Given the description of an element on the screen output the (x, y) to click on. 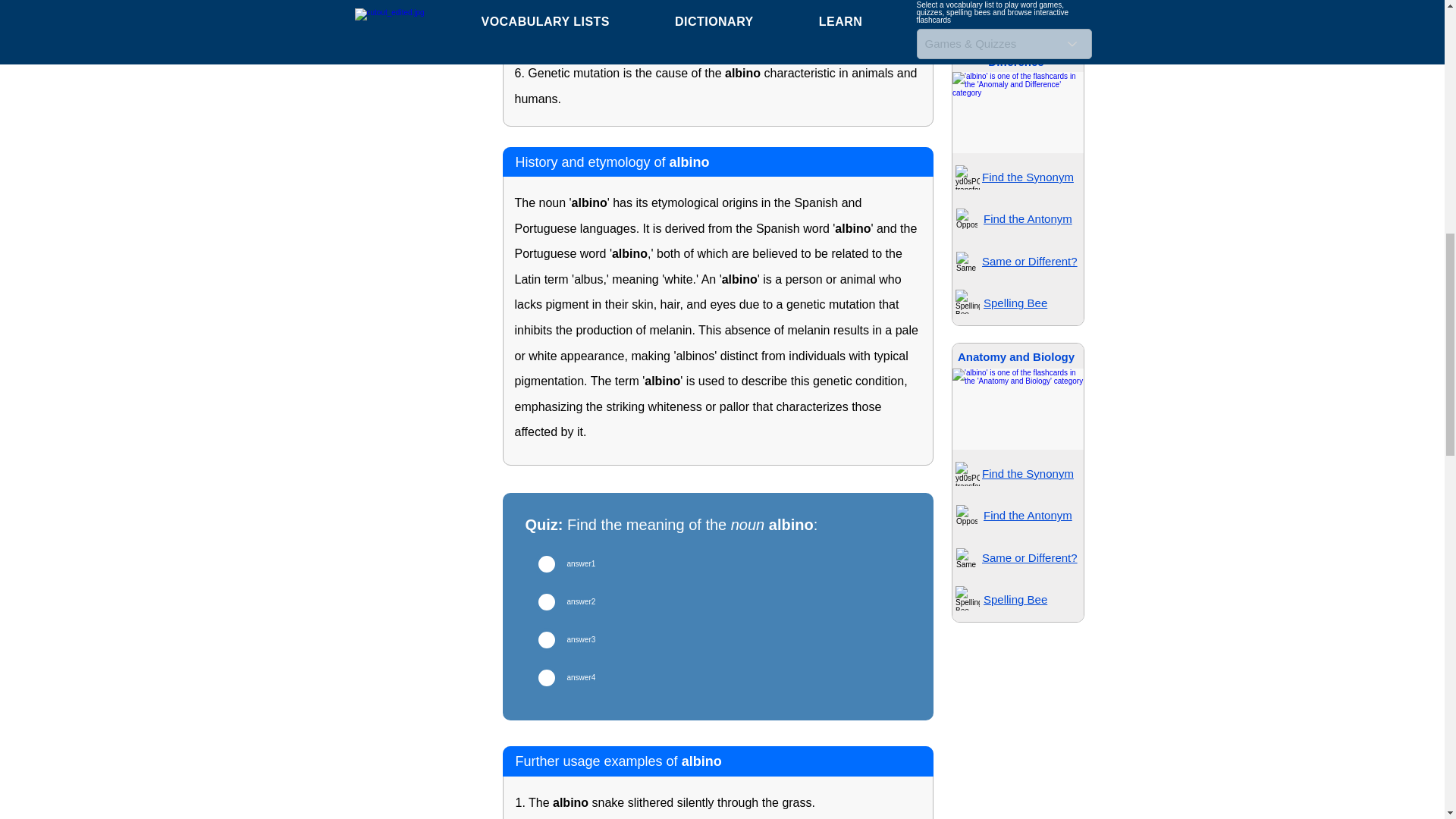
Anatomy and Biology (1016, 356)
Find the Synonym (1027, 472)
Find the Antonym (1027, 514)
Same or Different? (1029, 260)
Find the Synonym (1027, 176)
Anomaly and Difference (1015, 54)
Spelling Bee (1015, 302)
Find the Antonym (1027, 218)
Spelling Bee (1015, 0)
